Given the description of an element on the screen output the (x, y) to click on. 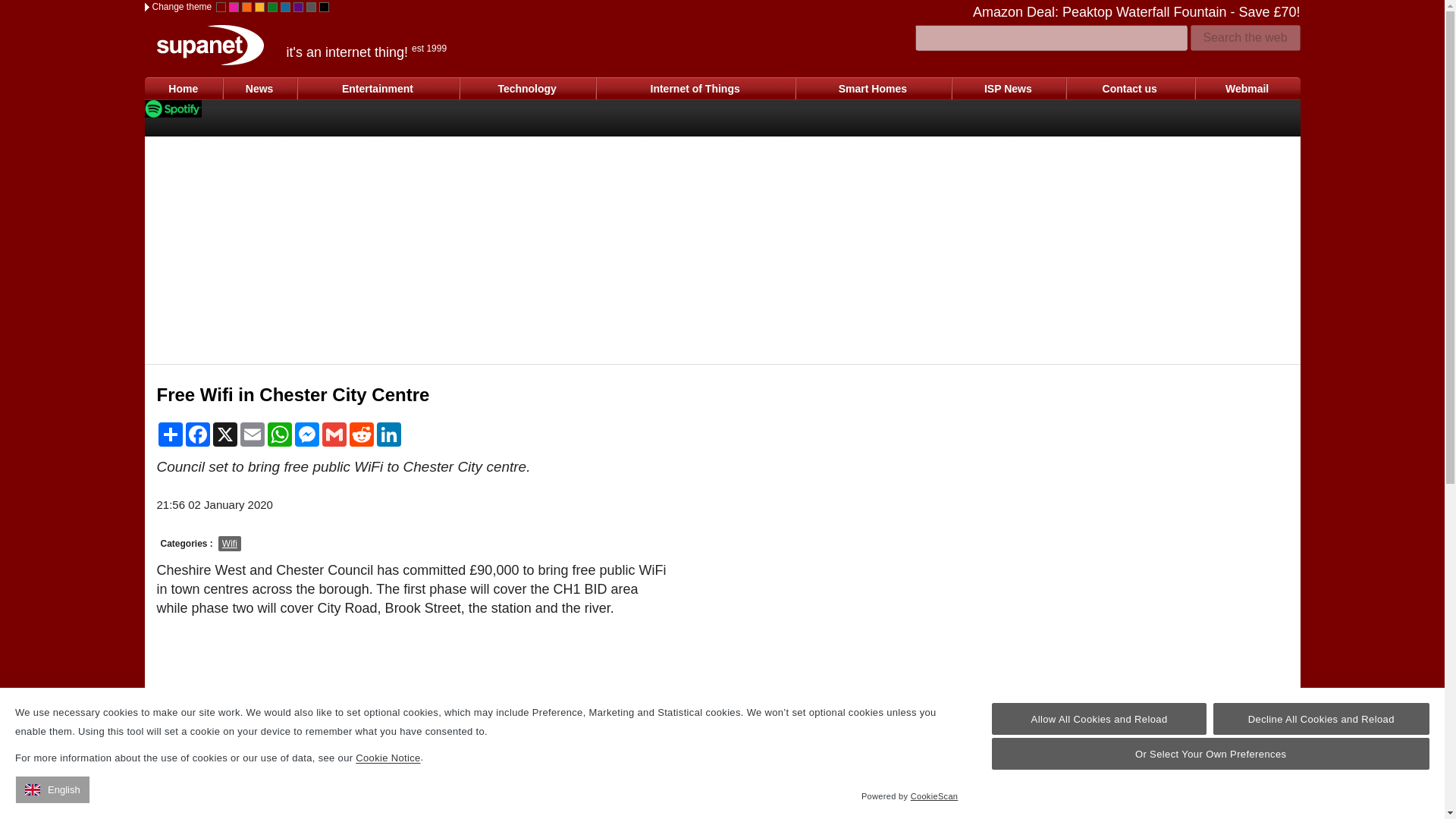
Entertainment (377, 88)
Contact us (1129, 88)
ISP News (1007, 88)
Webmail (1246, 88)
Internet of Things (694, 88)
Home (183, 88)
News (259, 88)
Search the web (1245, 37)
Supanet (209, 45)
